Given the description of an element on the screen output the (x, y) to click on. 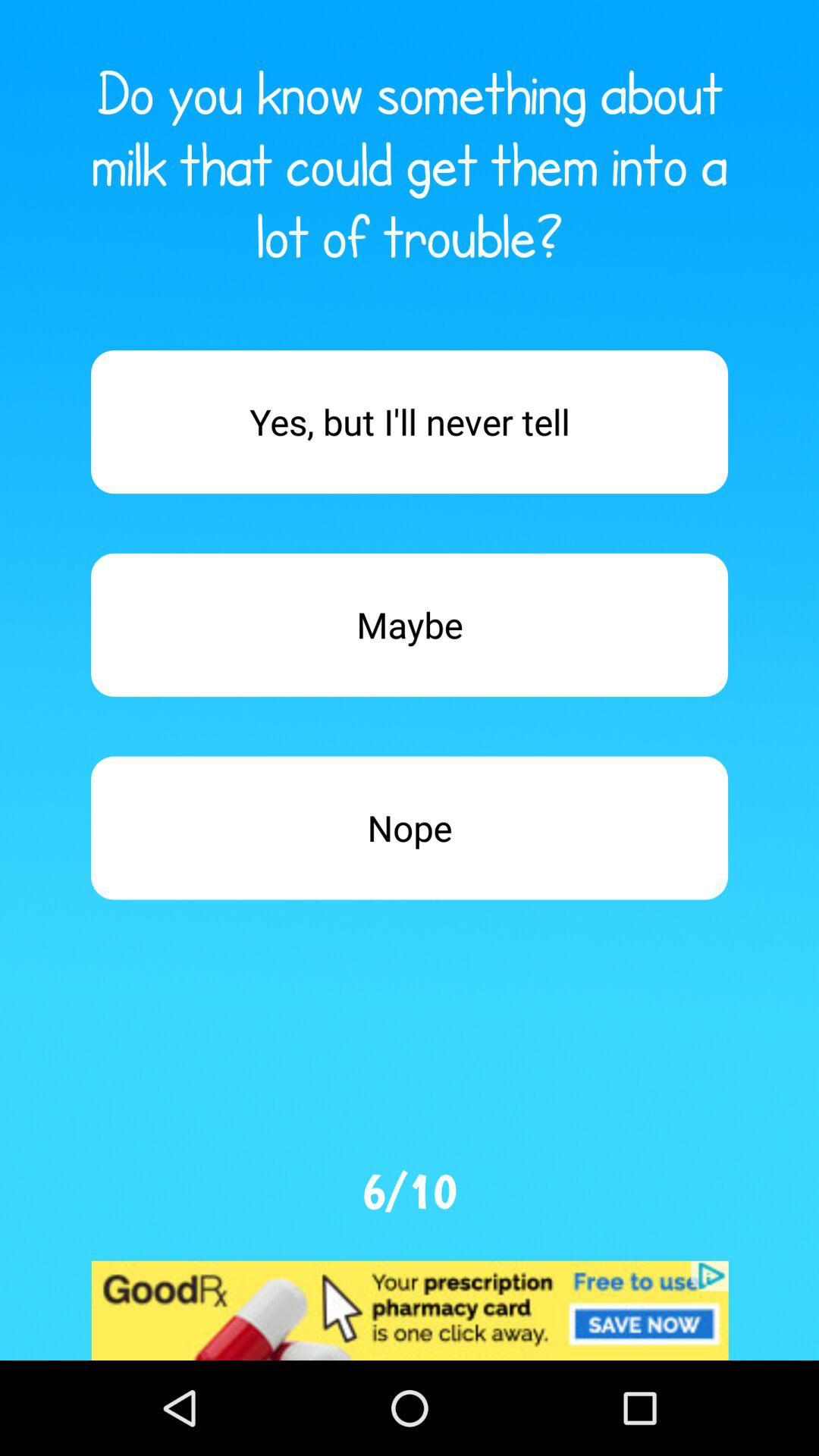
chose the no option button (409, 827)
